Given the description of an element on the screen output the (x, y) to click on. 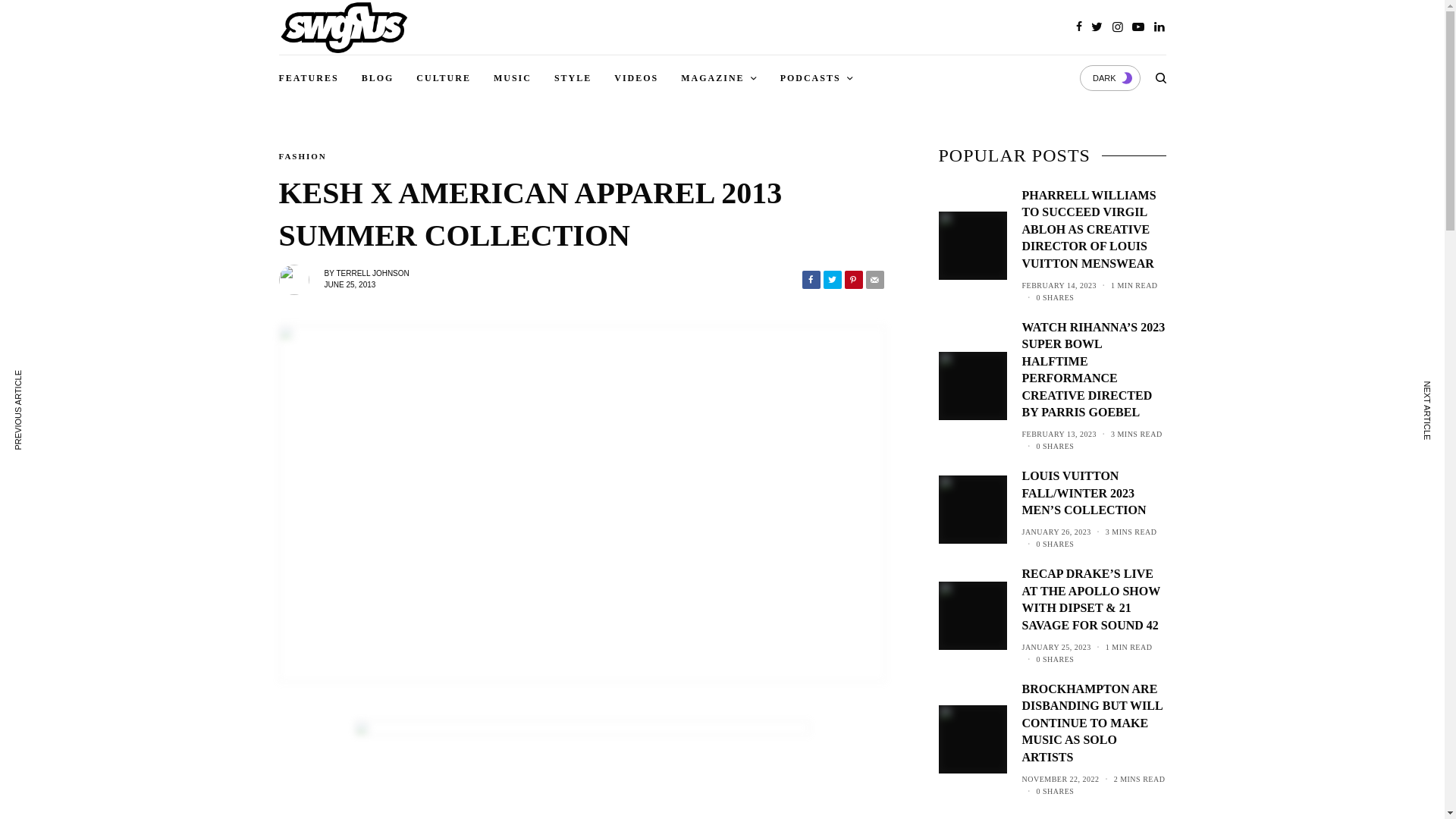
PODCASTS (816, 77)
MAGAZINE (719, 77)
FEATURES (309, 77)
CULTURE (443, 77)
Posts by Terrell Johnson (372, 273)
KESH x American Apparel (582, 769)
VIDEOS (636, 77)
FASHION (302, 156)
TERRELL JOHNSON (372, 273)
SWGRUS (344, 27)
